Given the description of an element on the screen output the (x, y) to click on. 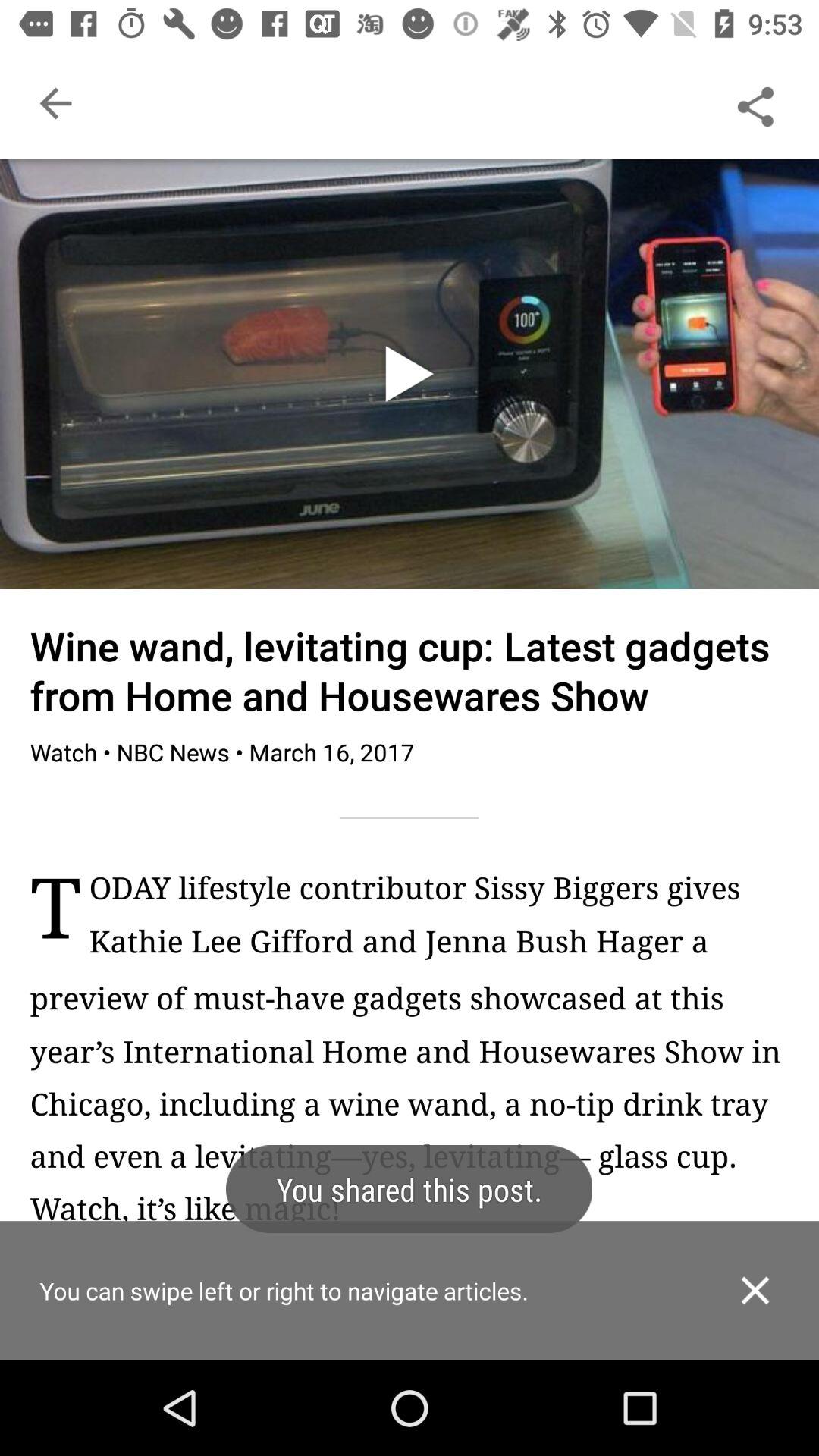
close dialogue box (755, 1290)
